Given the description of an element on the screen output the (x, y) to click on. 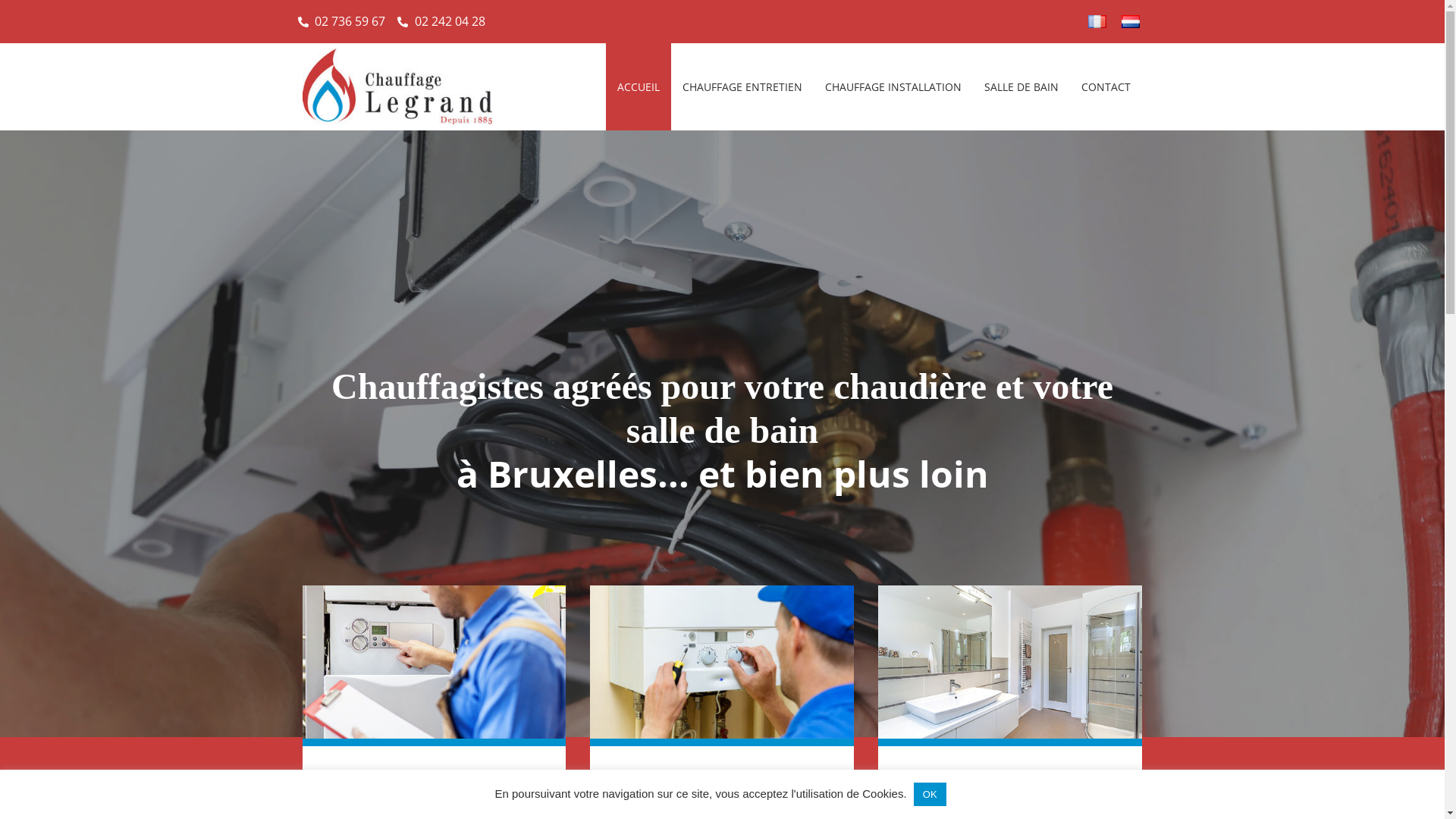
SALLE DE BAIN Element type: text (1021, 85)
02 242 04 28 Element type: text (441, 21)
02 736 59 67 Element type: text (341, 21)
CHAUFFAGE ENTRETIEN Element type: text (742, 85)
Nederlands Element type: hover (1129, 21)
CHAUFFAGE INSTALLATION Element type: text (892, 85)
OK Element type: text (929, 794)
ACCUEIL Element type: text (638, 85)
CONTACT Element type: text (1106, 85)
